Given the description of an element on the screen output the (x, y) to click on. 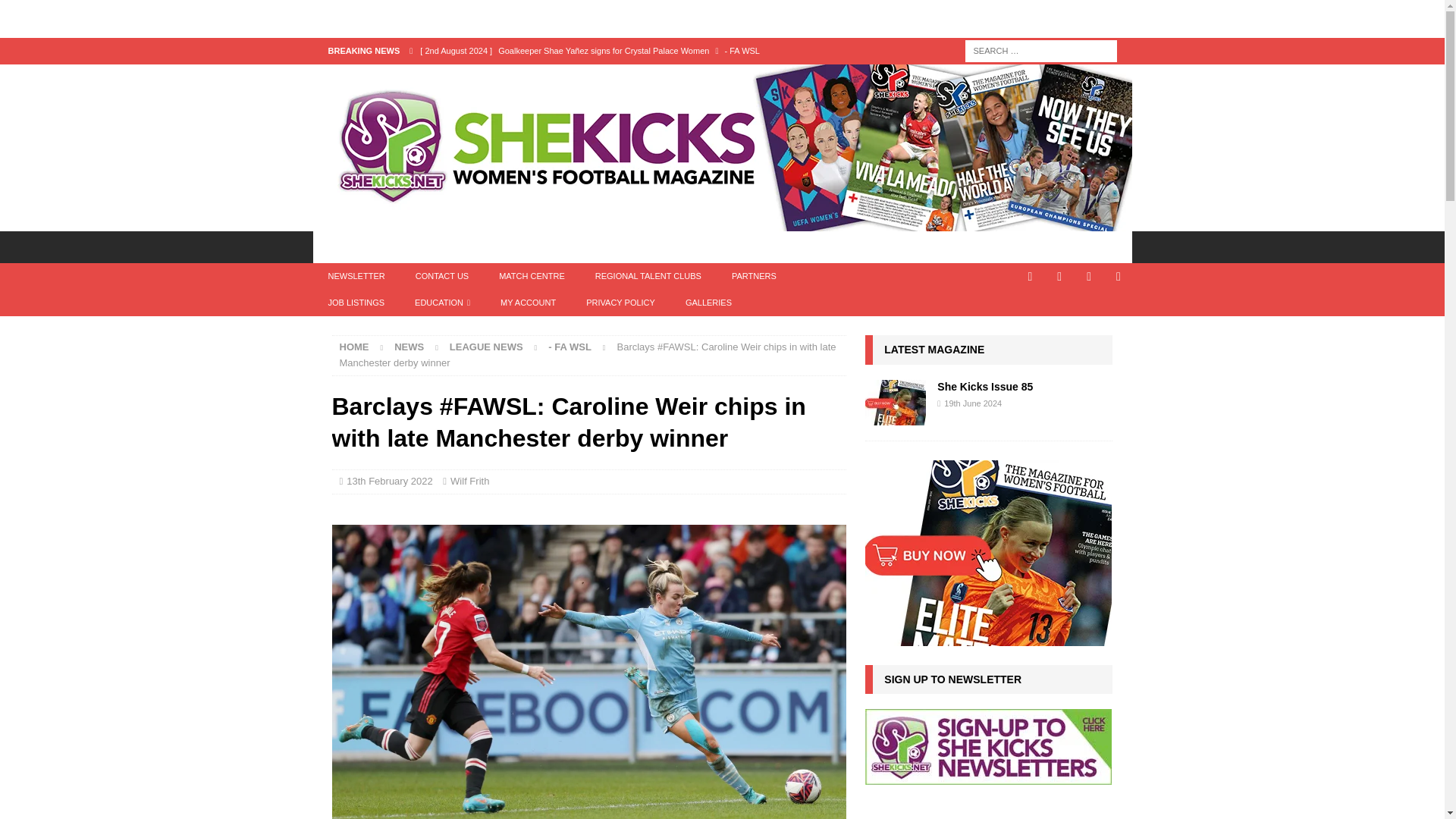
NEWS (406, 246)
- FA WSL (569, 346)
SheKicks (722, 223)
Manchester City Women sign Japan international Aoba Fujino (627, 76)
HOME (343, 246)
Home (354, 346)
Search (56, 11)
